Given the description of an element on the screen output the (x, y) to click on. 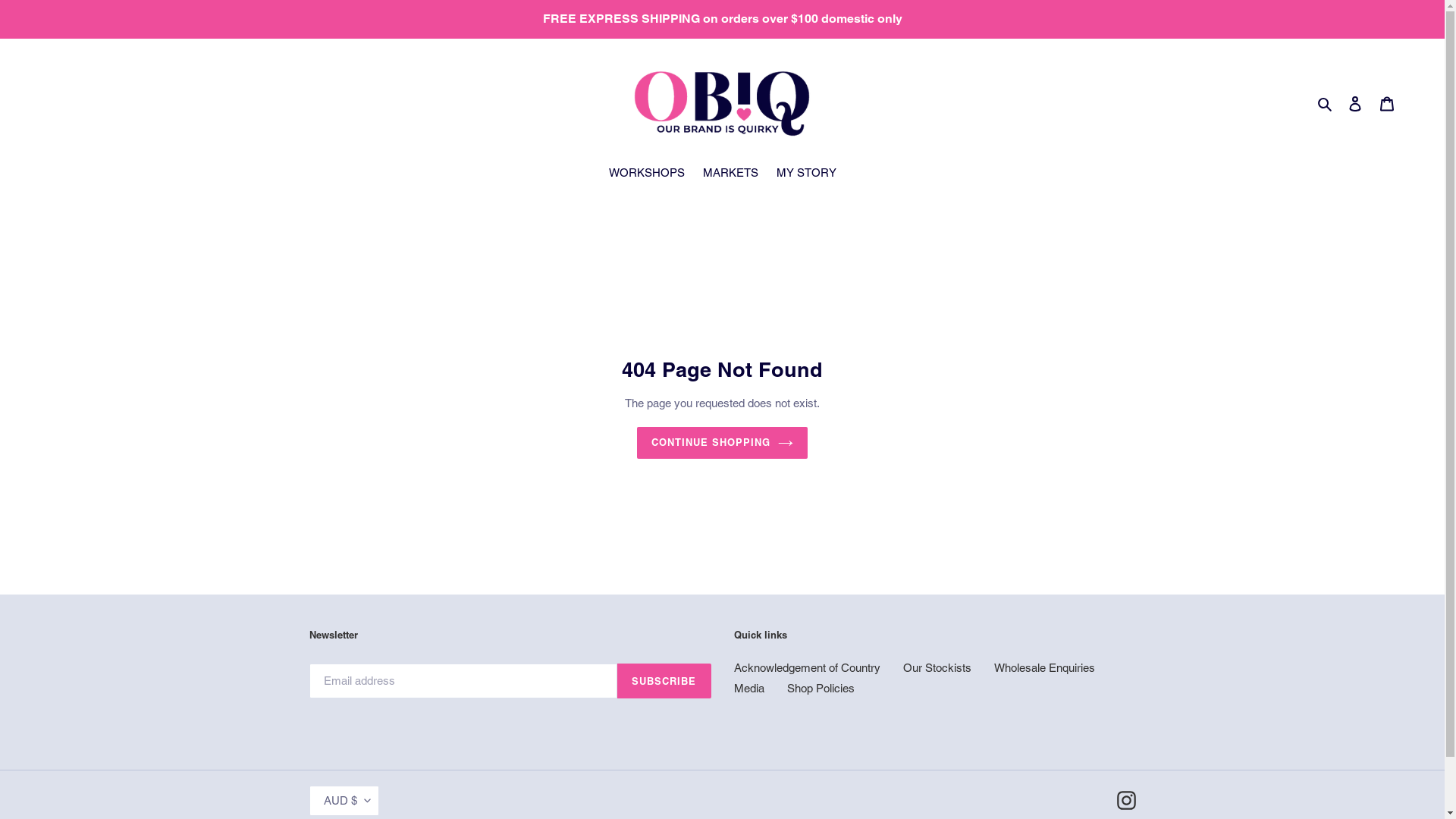
AUD $ Element type: text (344, 800)
Wholesale Enquiries Element type: text (1043, 667)
Media Element type: text (749, 687)
Log in Element type: text (1355, 103)
MY STORY Element type: text (806, 174)
Our Stockists Element type: text (936, 667)
Search Element type: text (1325, 103)
Cart Element type: text (1386, 103)
Shop Policies Element type: text (820, 687)
Instagram Element type: text (1125, 799)
MARKETS Element type: text (729, 174)
SUBSCRIBE Element type: text (663, 680)
Acknowledgement of Country Element type: text (807, 667)
WORKSHOPS Element type: text (645, 174)
CONTINUE SHOPPING Element type: text (722, 442)
